Given the description of an element on the screen output the (x, y) to click on. 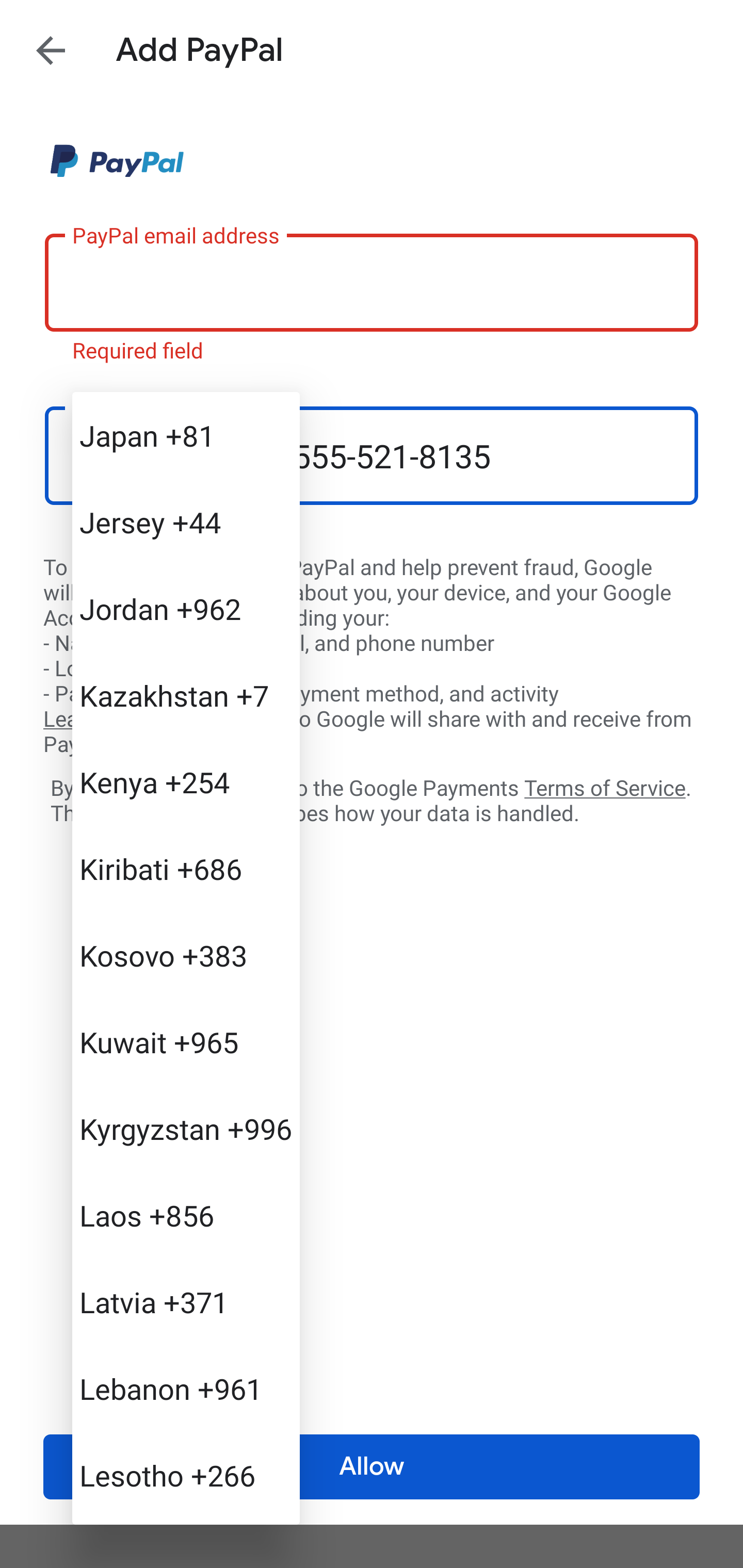
Japan +81 (185, 435)
Jersey +44 (185, 522)
Jordan +962 (185, 609)
Kazakhstan +7 (185, 695)
Kenya +254 (185, 781)
Kiribati +686 (185, 868)
Kosovo +383 (185, 955)
Kuwait +965 (185, 1041)
Kyrgyzstan +996 (185, 1128)
Laos +856 (185, 1215)
Latvia +371 (185, 1302)
Lebanon +961 (185, 1388)
Lesotho +266 (185, 1474)
